Given the description of an element on the screen output the (x, y) to click on. 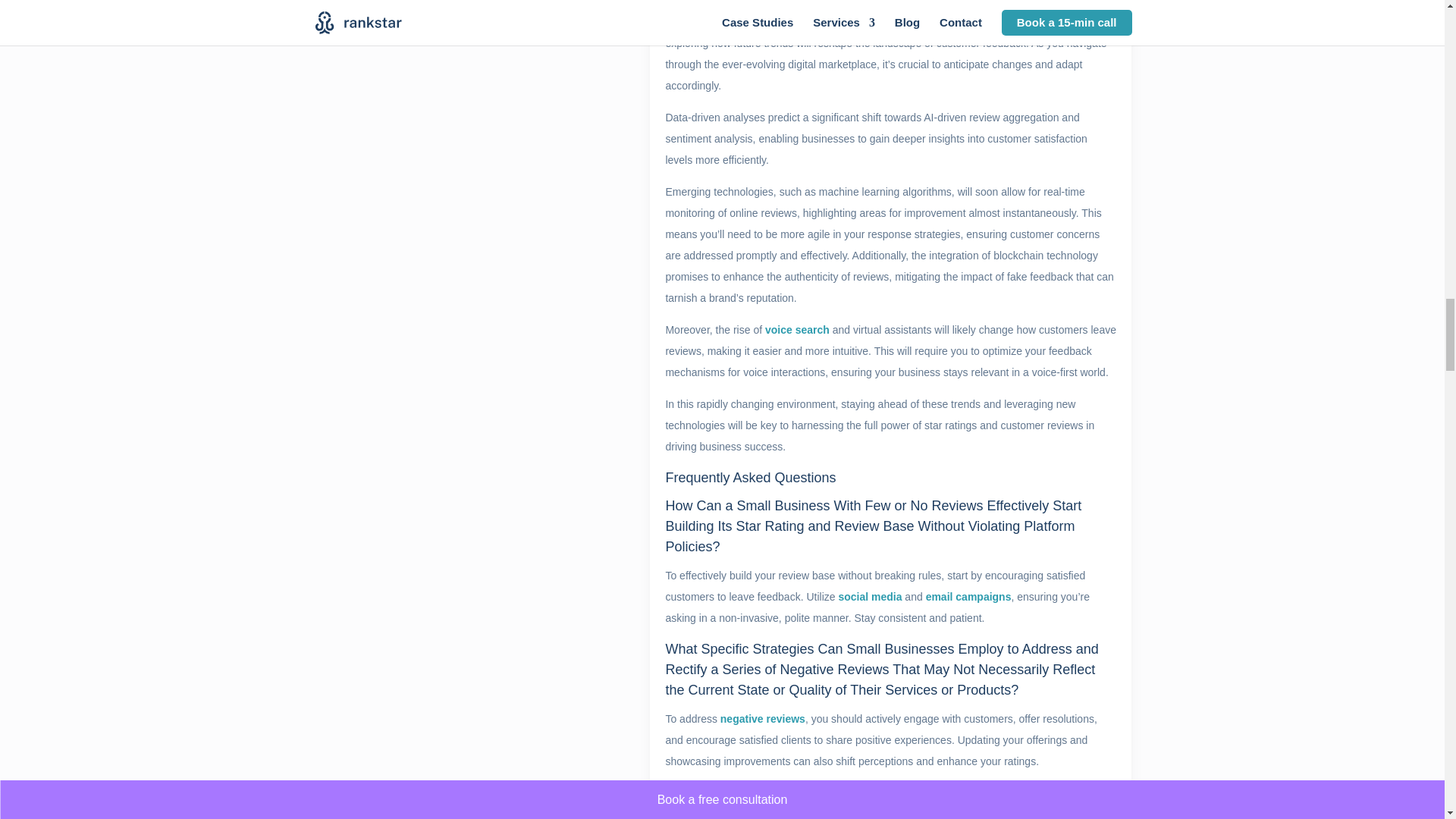
email campaigns (968, 596)
social media (869, 596)
negative reviews (762, 718)
voice search (797, 329)
